Given the description of an element on the screen output the (x, y) to click on. 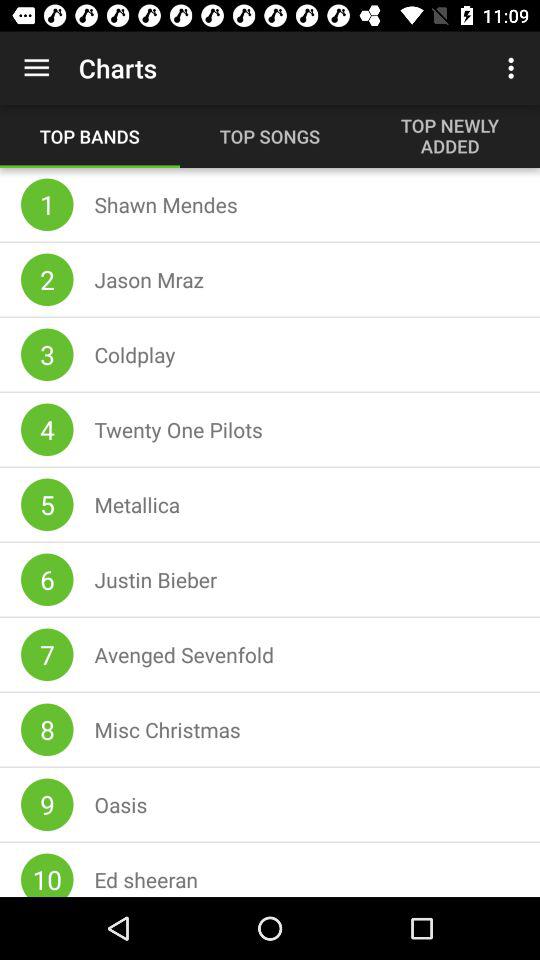
tap icon to the left of the ed sheeran item (47, 874)
